Given the description of an element on the screen output the (x, y) to click on. 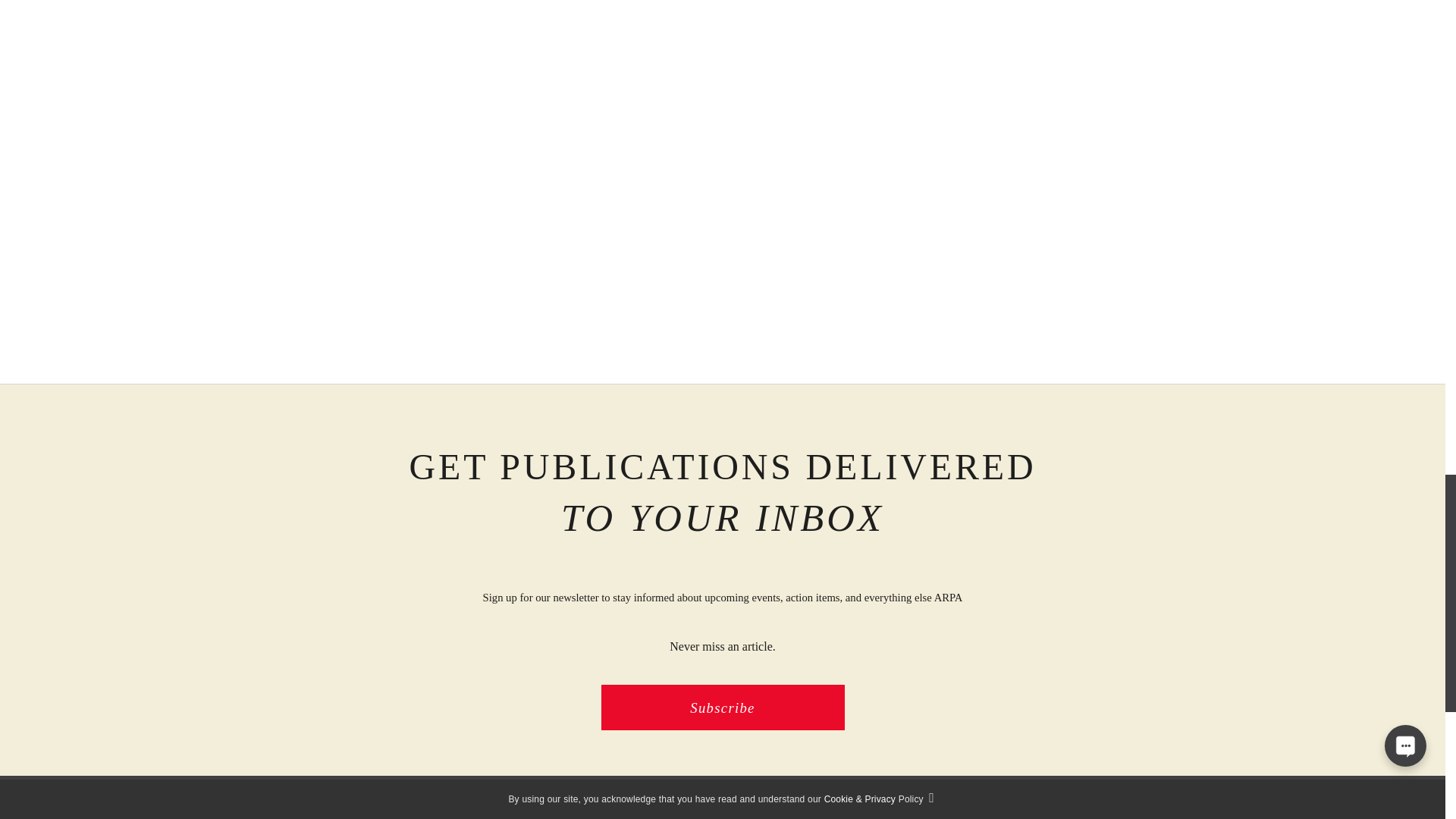
Subscribe (721, 707)
